Given the description of an element on the screen output the (x, y) to click on. 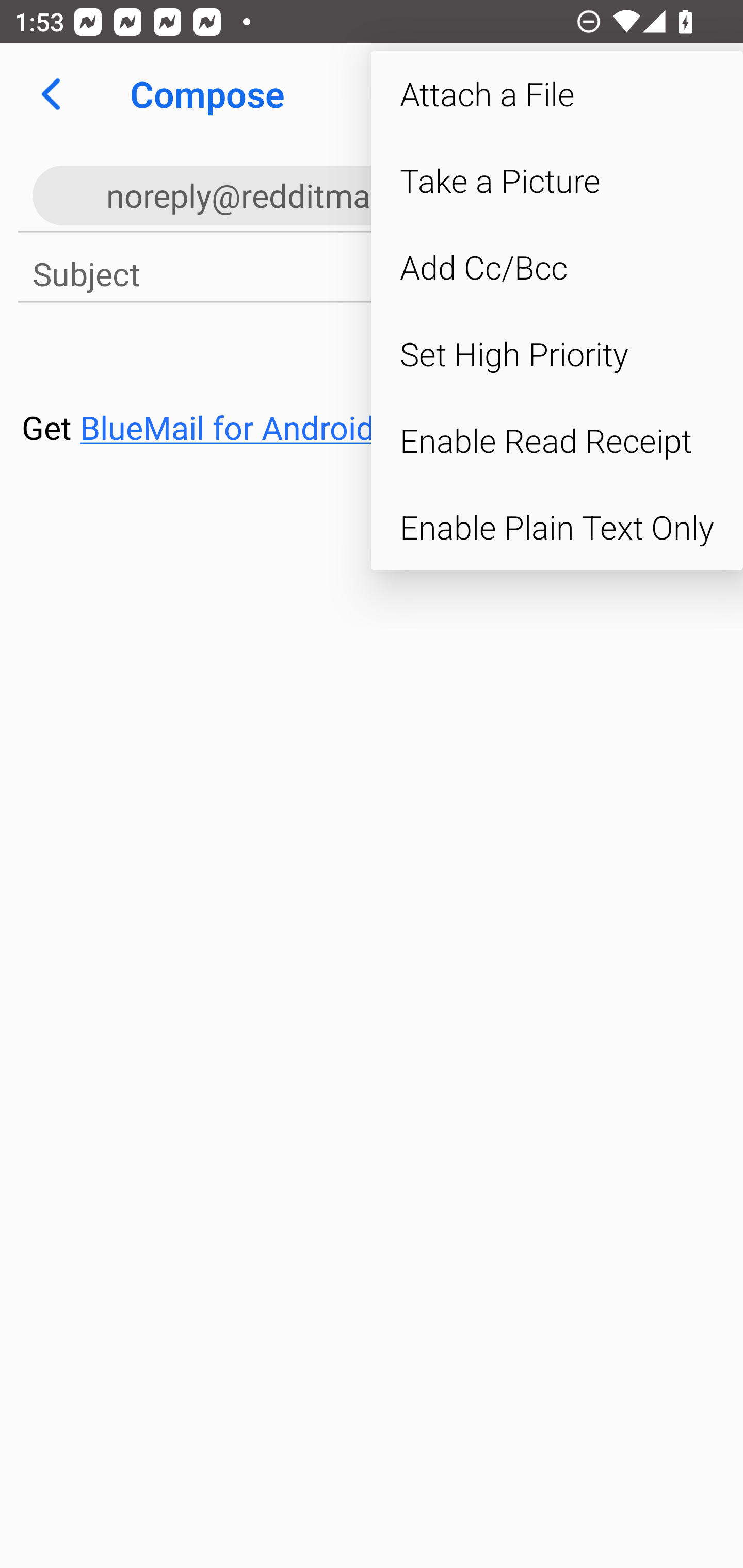
Attach a File (556, 93)
Take a Picture (556, 180)
Add Cc/Bcc (556, 267)
Set High Priority (556, 353)
Enable Read Receipt (556, 440)
Enable Plain Text Only (556, 527)
